Given the description of an element on the screen output the (x, y) to click on. 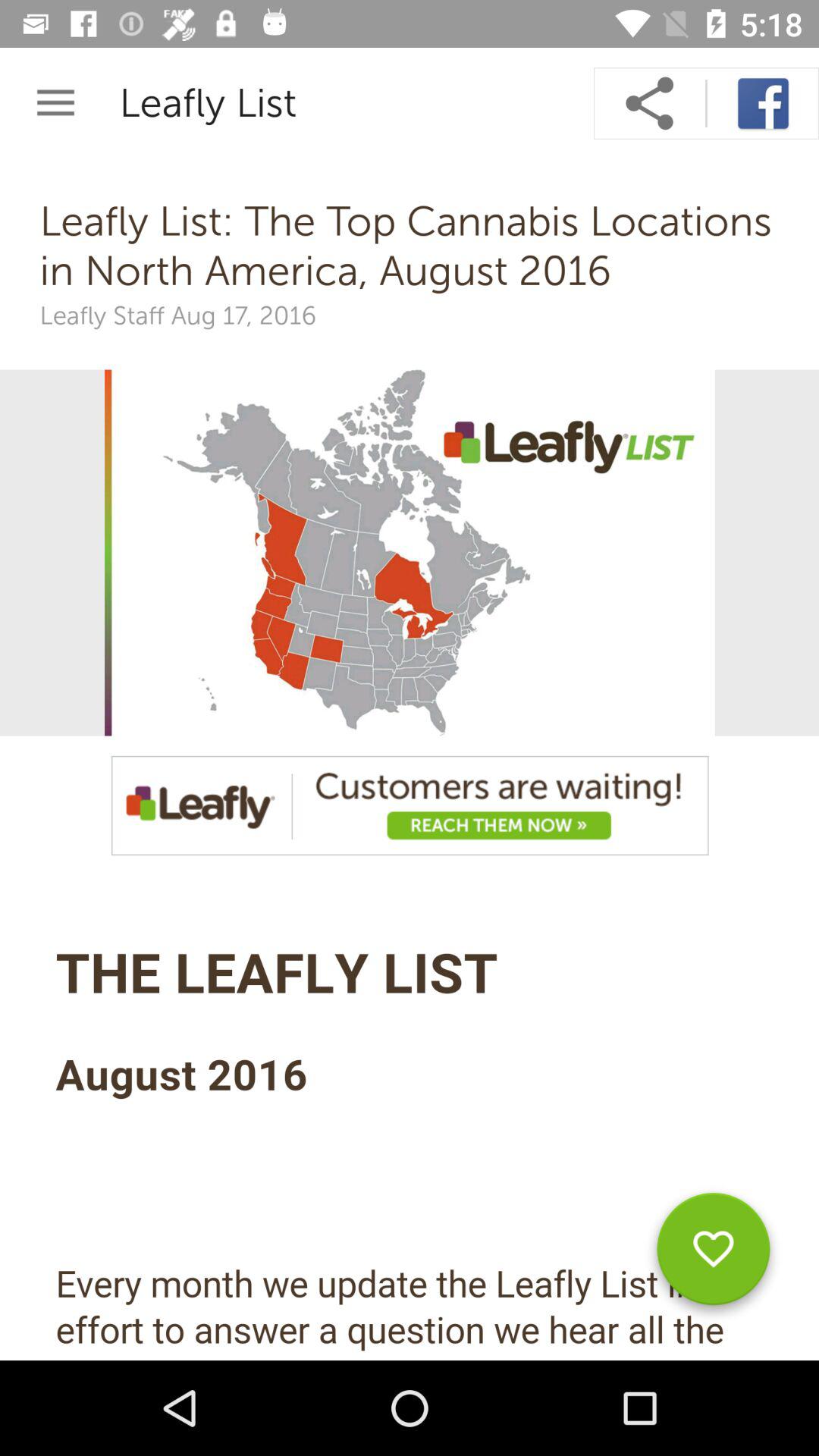
like (713, 1254)
